Given the description of an element on the screen output the (x, y) to click on. 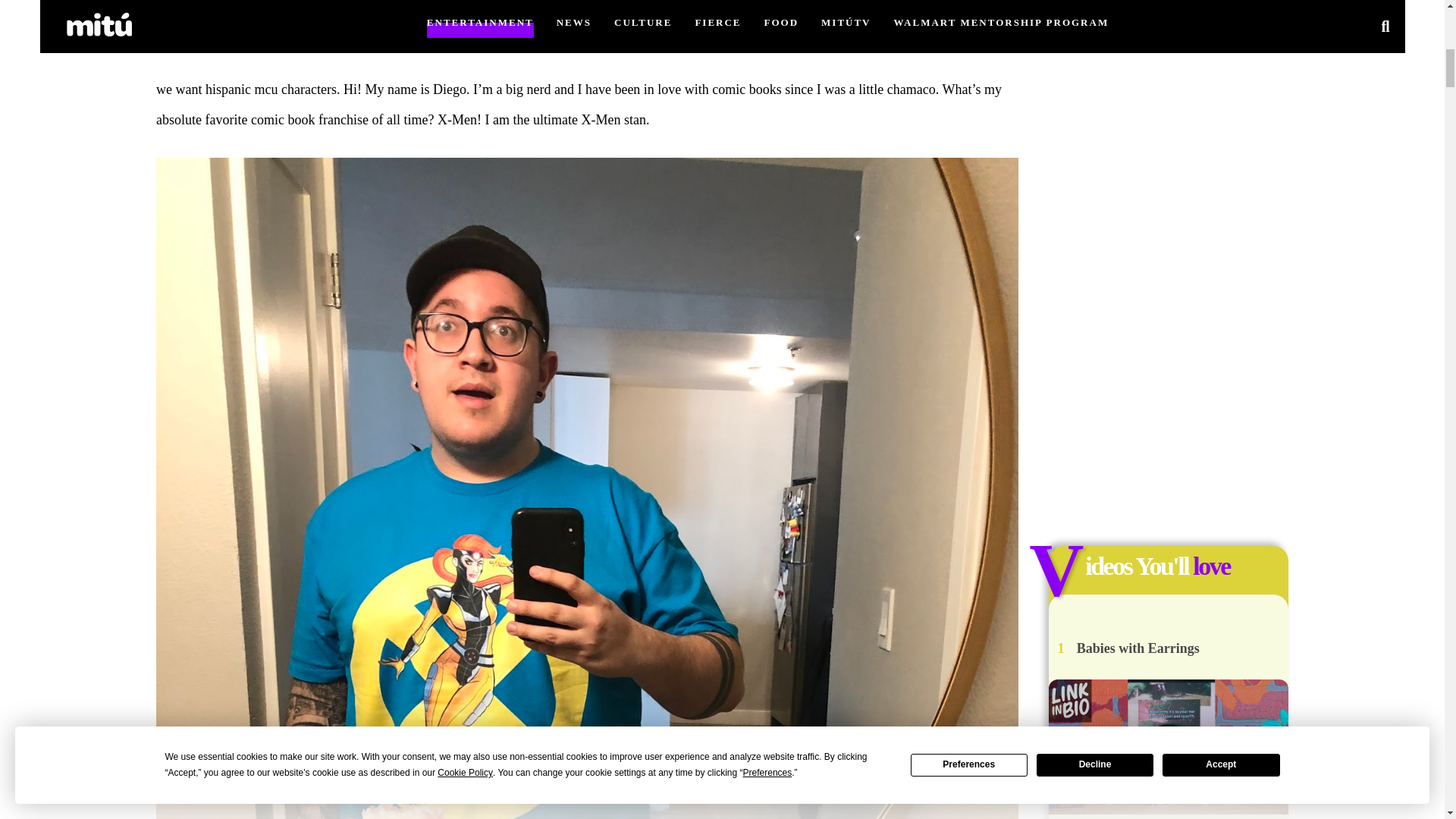
Babies with Earrings (1138, 648)
Share on Facebook (709, 7)
Share via Email (734, 7)
